Given the description of an element on the screen output the (x, y) to click on. 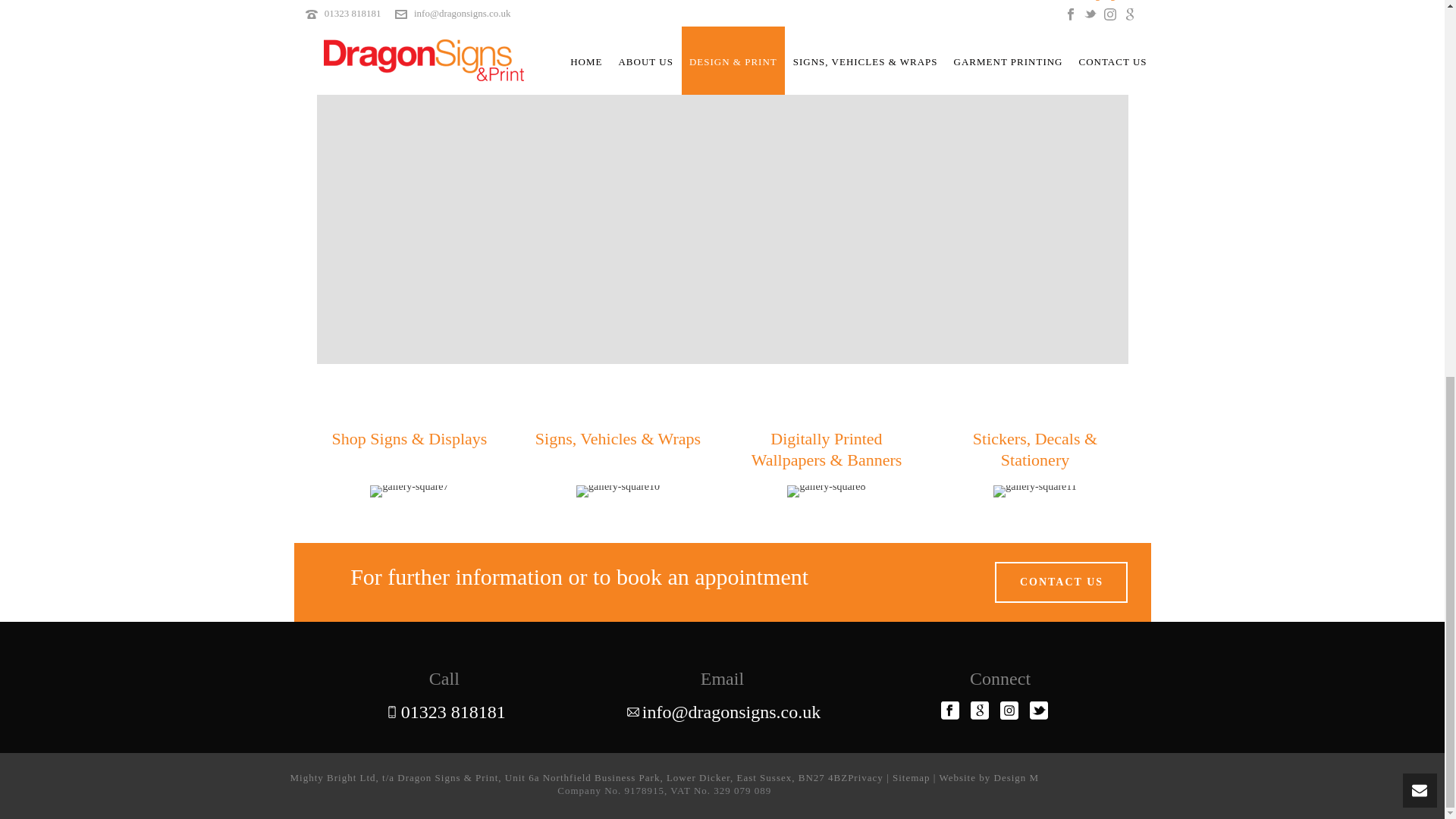
Follow Us on google (979, 711)
gallery-square7 (408, 491)
Follow Us on twitter (1038, 711)
Privacy (865, 777)
gallery-square11 (1034, 491)
Design M (1015, 777)
Sitemap (911, 777)
01323 818181 (453, 711)
CONTACT US (1060, 581)
Follow Us on facebook (949, 711)
